Given the description of an element on the screen output the (x, y) to click on. 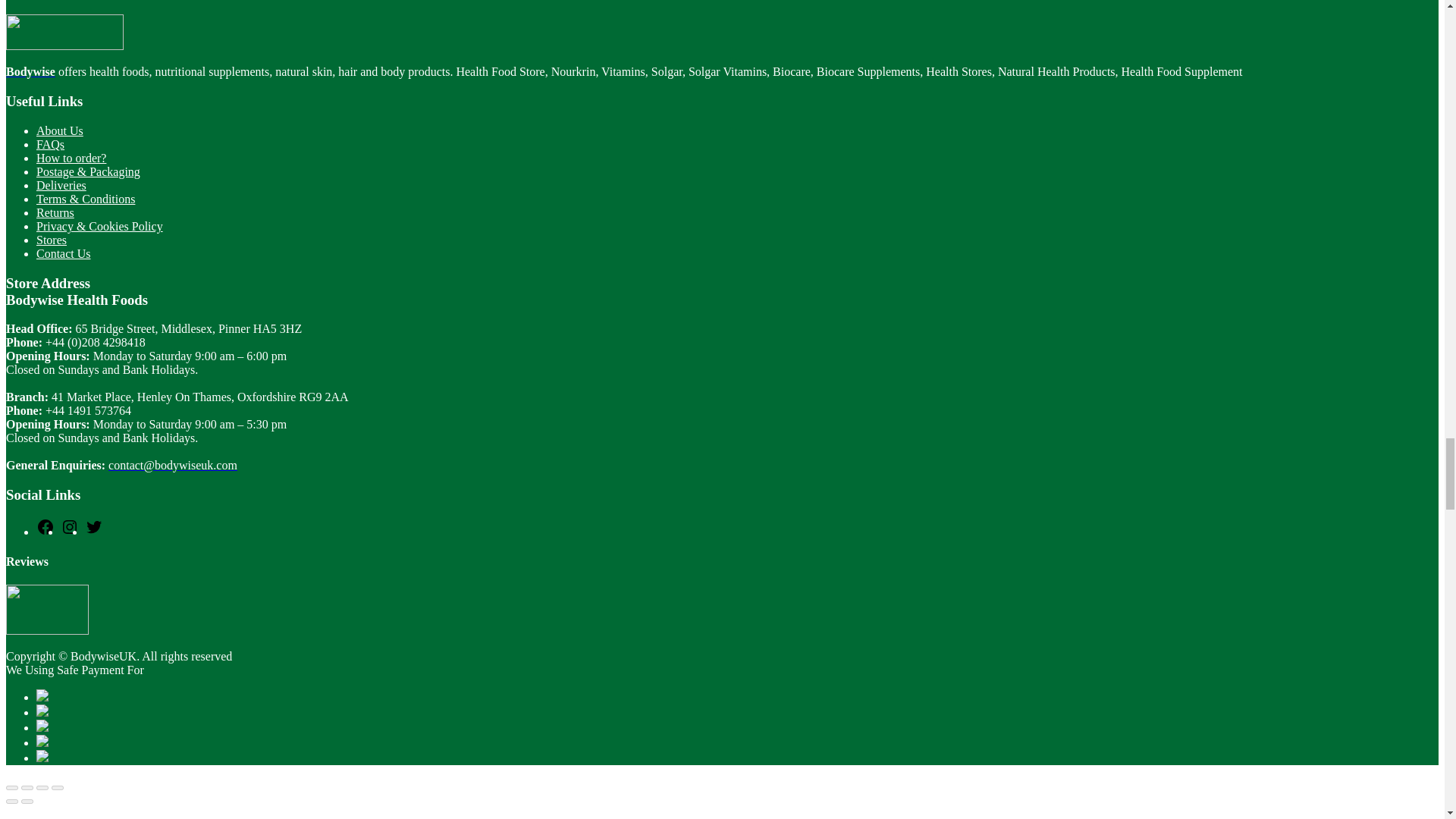
Toggle fullscreen (42, 787)
Share (27, 787)
